Given the description of an element on the screen output the (x, y) to click on. 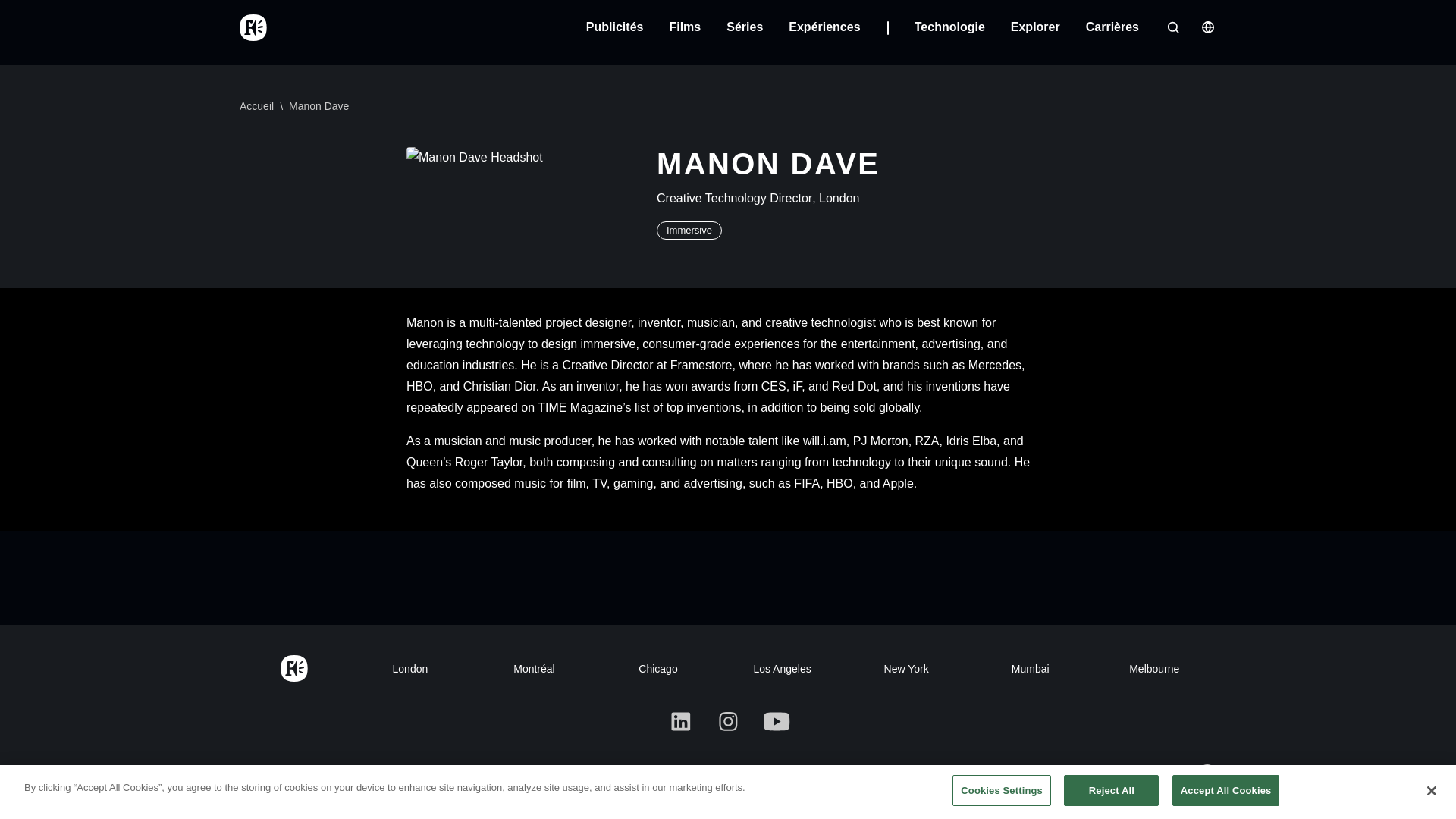
Films (684, 26)
Accueil (253, 27)
Technologie (949, 26)
Search (1172, 27)
Languages (1207, 27)
